Given the description of an element on the screen output the (x, y) to click on. 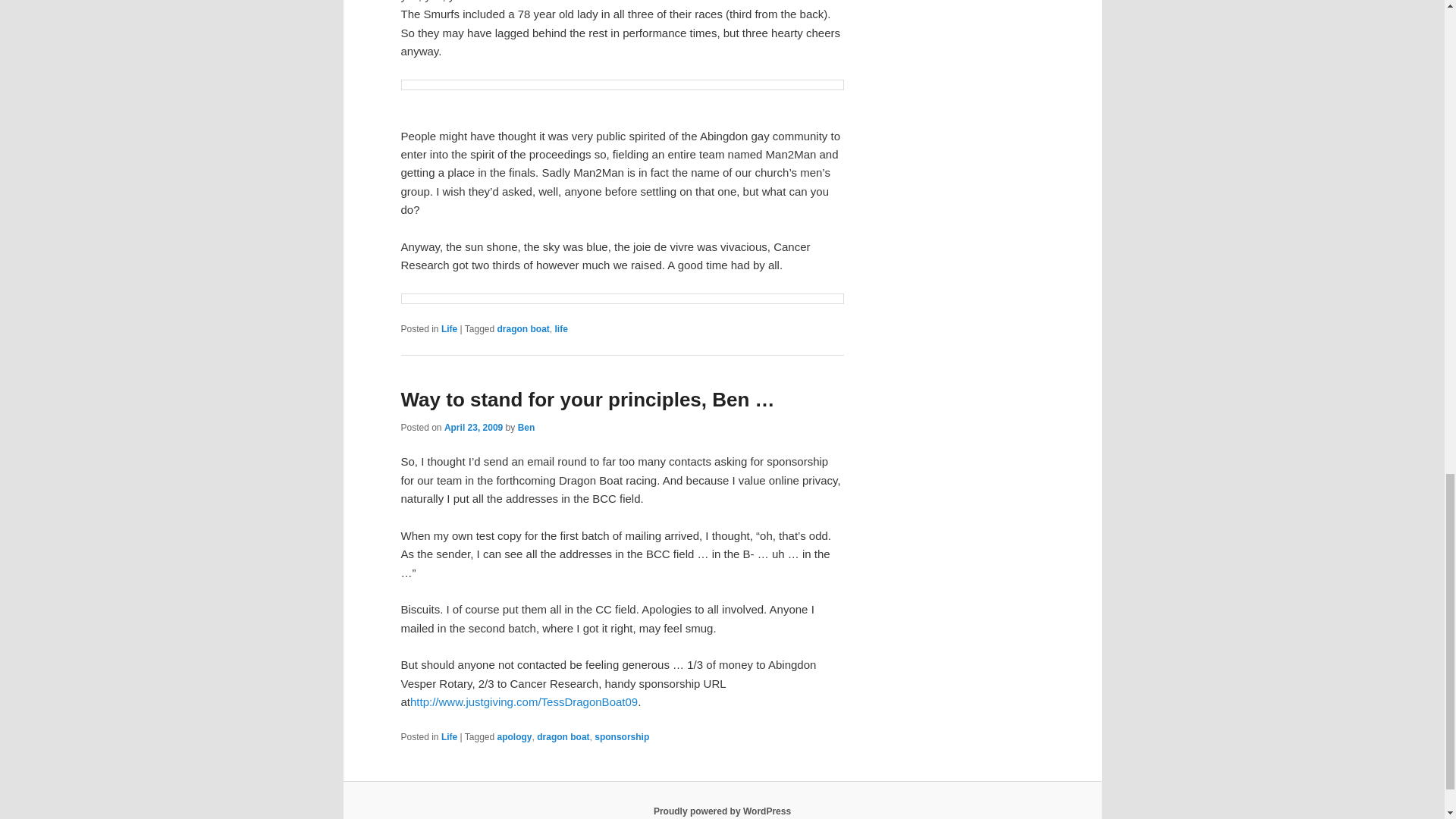
1:09 pm (473, 427)
Semantic Personal Publishing Platform (721, 810)
View all posts by Ben (526, 427)
